Given the description of an element on the screen output the (x, y) to click on. 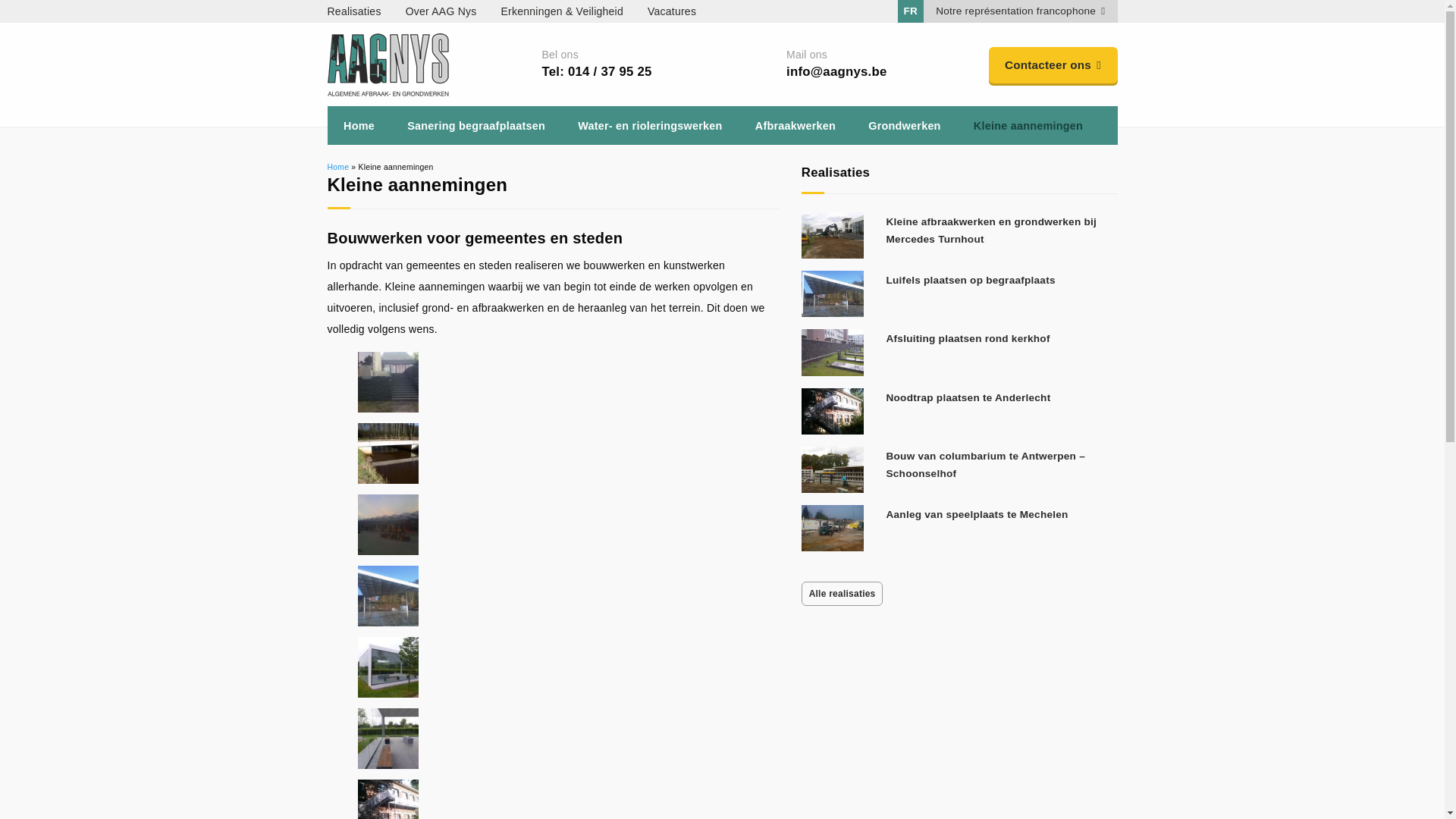
Kleine aannemingen Element type: text (1027, 125)
Alle realisaties Element type: text (842, 593)
Home Element type: text (359, 125)
Afbraakwerken Element type: text (795, 125)
Vacatures Element type: text (683, 11)
Realisaties Element type: text (366, 11)
Sanering begraafplaatsen Element type: text (476, 125)
Over AAG Nys Element type: text (453, 11)
Home Element type: text (338, 167)
Afsluiting plaatsen rond kerkhof Element type: text (968, 338)
Noodtrap plaatsen te Anderlecht Element type: text (968, 397)
Water- en rioleringswerken Element type: text (650, 125)
Kleine afbraakwerken en grondwerken bij Mercedes Turnhout Element type: text (991, 230)
Luifels plaatsen op begraafplaats Element type: text (970, 279)
Grondwerken Element type: text (904, 125)
Erkenningen & Veiligheid Element type: text (574, 11)
Contacteer ons Element type: text (1052, 65)
FR Element type: text (910, 11)
Aanleg van speelplaats te Mechelen Element type: text (977, 514)
